Given the description of an element on the screen output the (x, y) to click on. 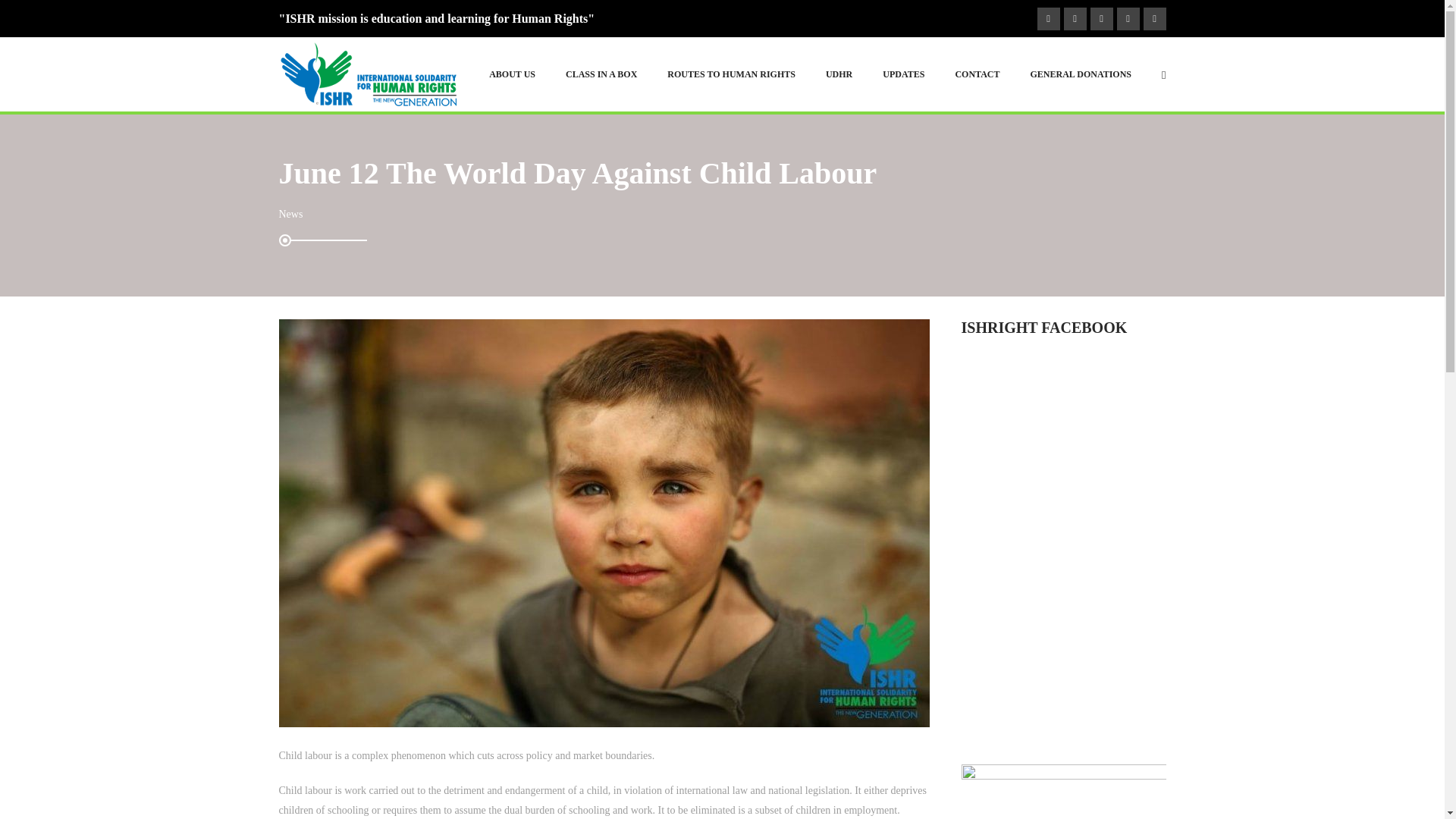
GENERAL DONATIONS (1080, 74)
Class in a box (601, 74)
CLASS IN A BOX (601, 74)
ROUTES TO HUMAN RIGHTS (730, 74)
